Given the description of an element on the screen output the (x, y) to click on. 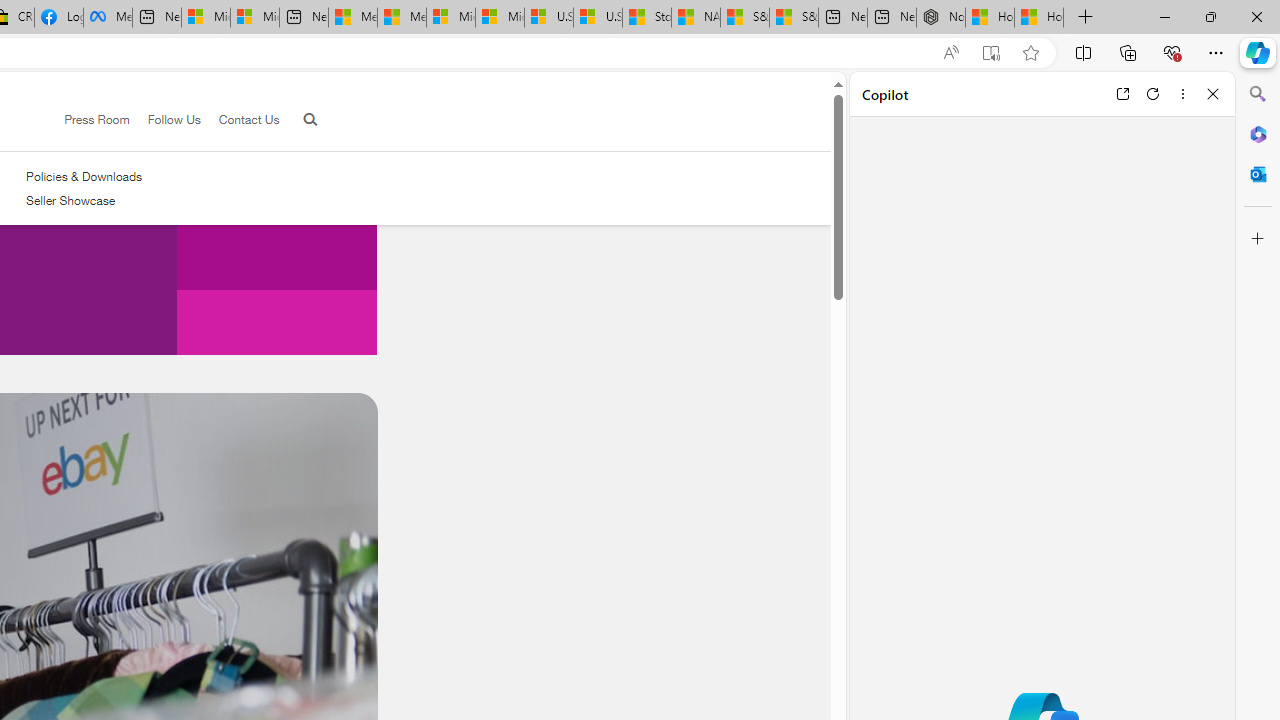
S&P 500, Nasdaq end lower, weighed by Nvidia dip | Watch (793, 17)
Open link in new tab (1122, 93)
Press Room (88, 120)
Press Room (97, 119)
Policies & Downloads (84, 176)
